Given the description of an element on the screen output the (x, y) to click on. 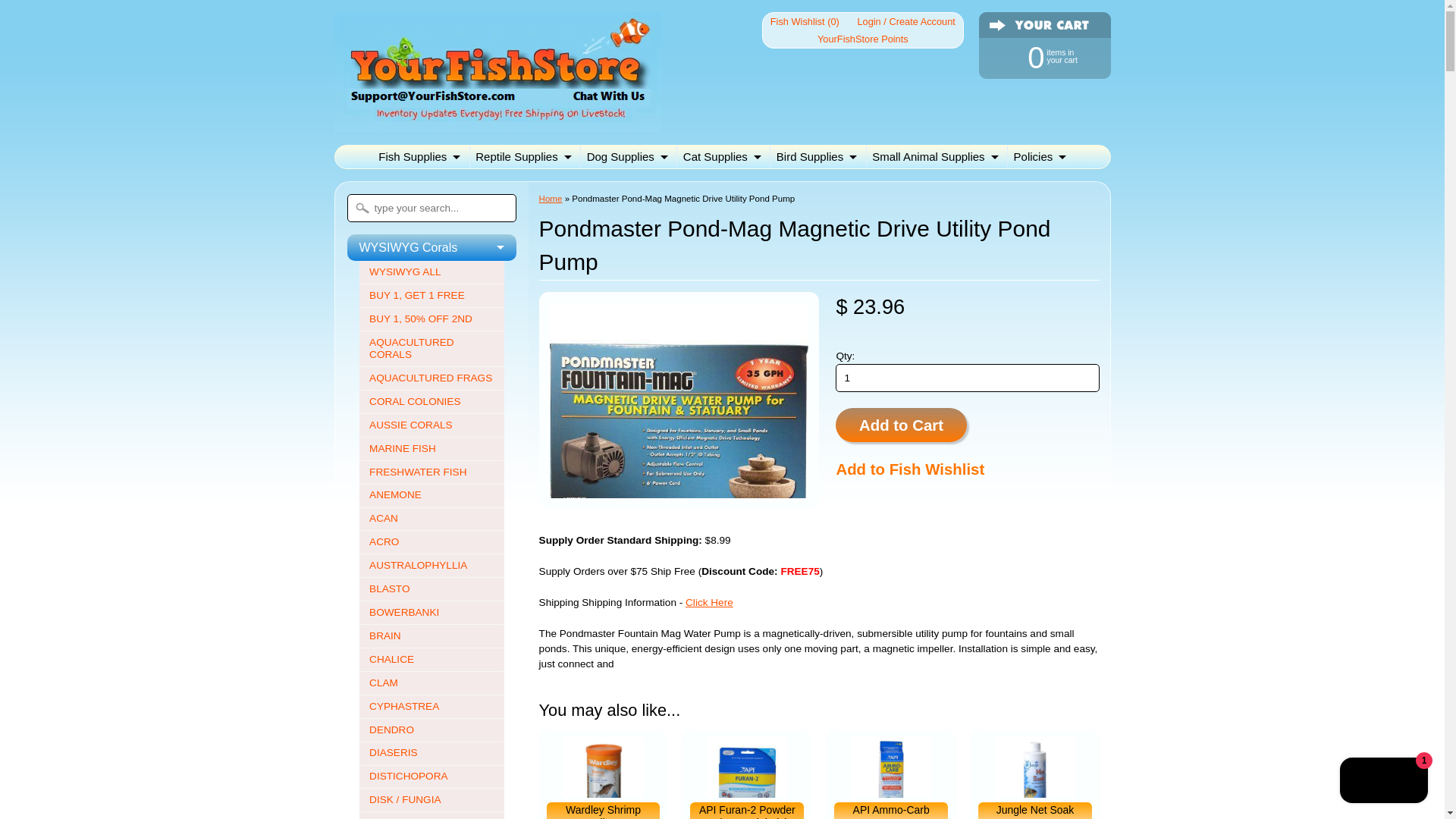
Fish Supplies (1036, 56)
www.YourFishStore.com (418, 156)
YourFishStore Points (497, 123)
1 (862, 38)
